Given the description of an element on the screen output the (x, y) to click on. 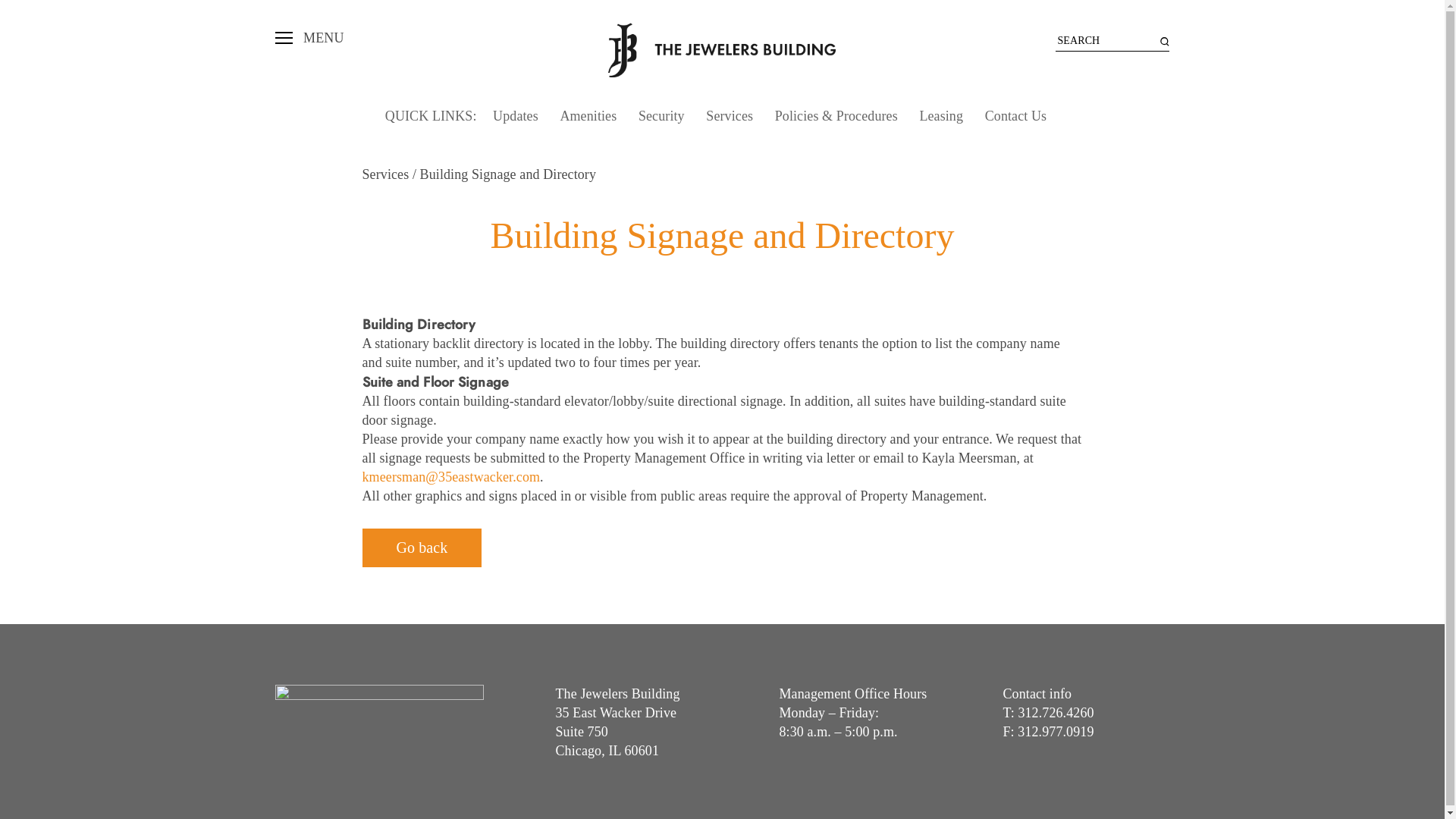
Leasing Element type: text (941, 115)
Go back Element type: text (422, 547)
Policies & Procedures Element type: text (836, 115)
Contact Us Element type: text (1016, 115)
kmeersman@35eastwacker.com Element type: text (451, 476)
Amenities Element type: text (587, 115)
Go back Element type: text (422, 547)
Services Element type: text (387, 174)
Services Element type: text (729, 115)
Security Element type: text (661, 115)
Updates Element type: text (515, 115)
